Given the description of an element on the screen output the (x, y) to click on. 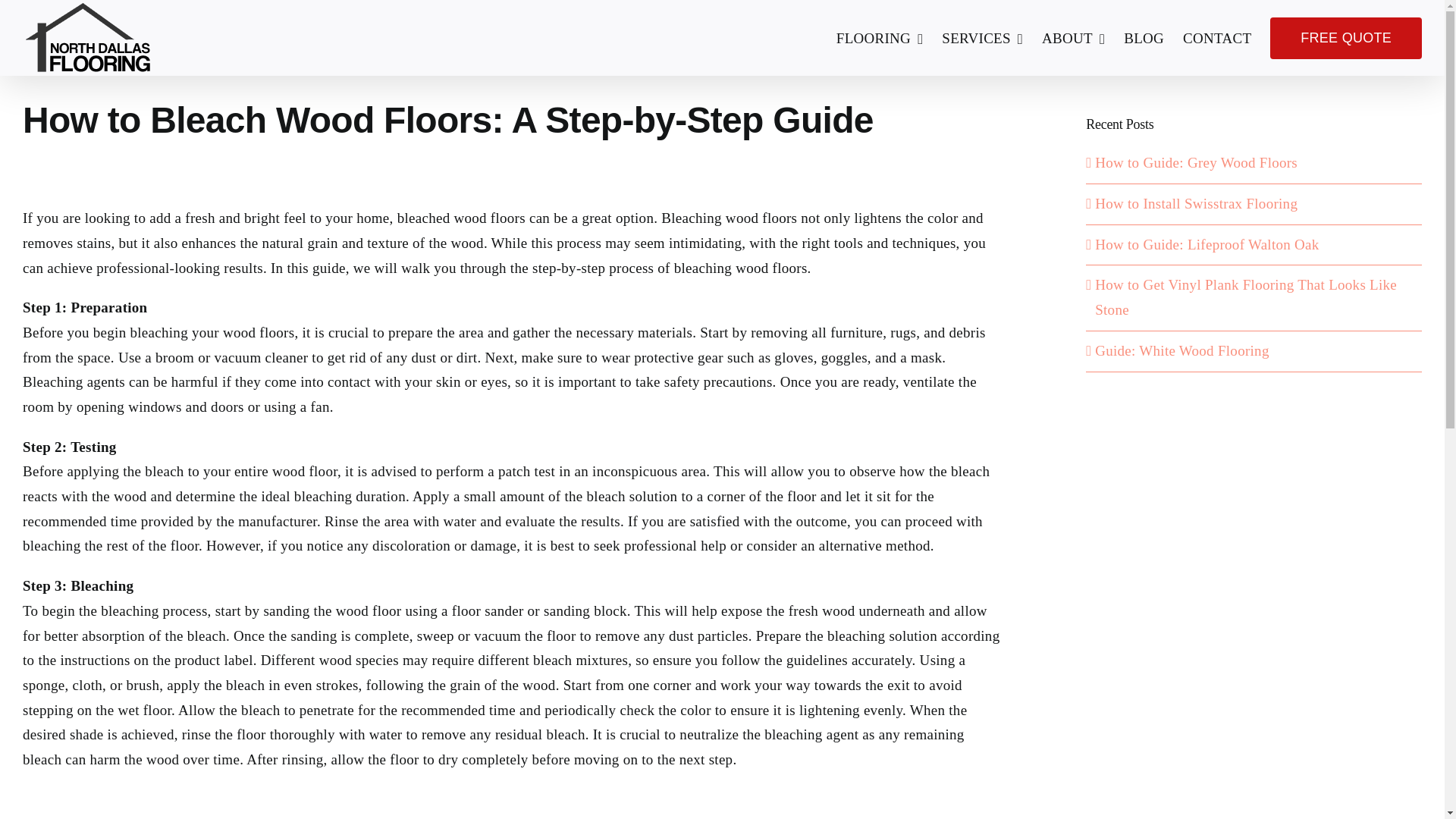
CONTACT (1216, 38)
FREE QUOTE (1345, 38)
FLOORING (879, 38)
SERVICES (982, 38)
